Given the description of an element on the screen output the (x, y) to click on. 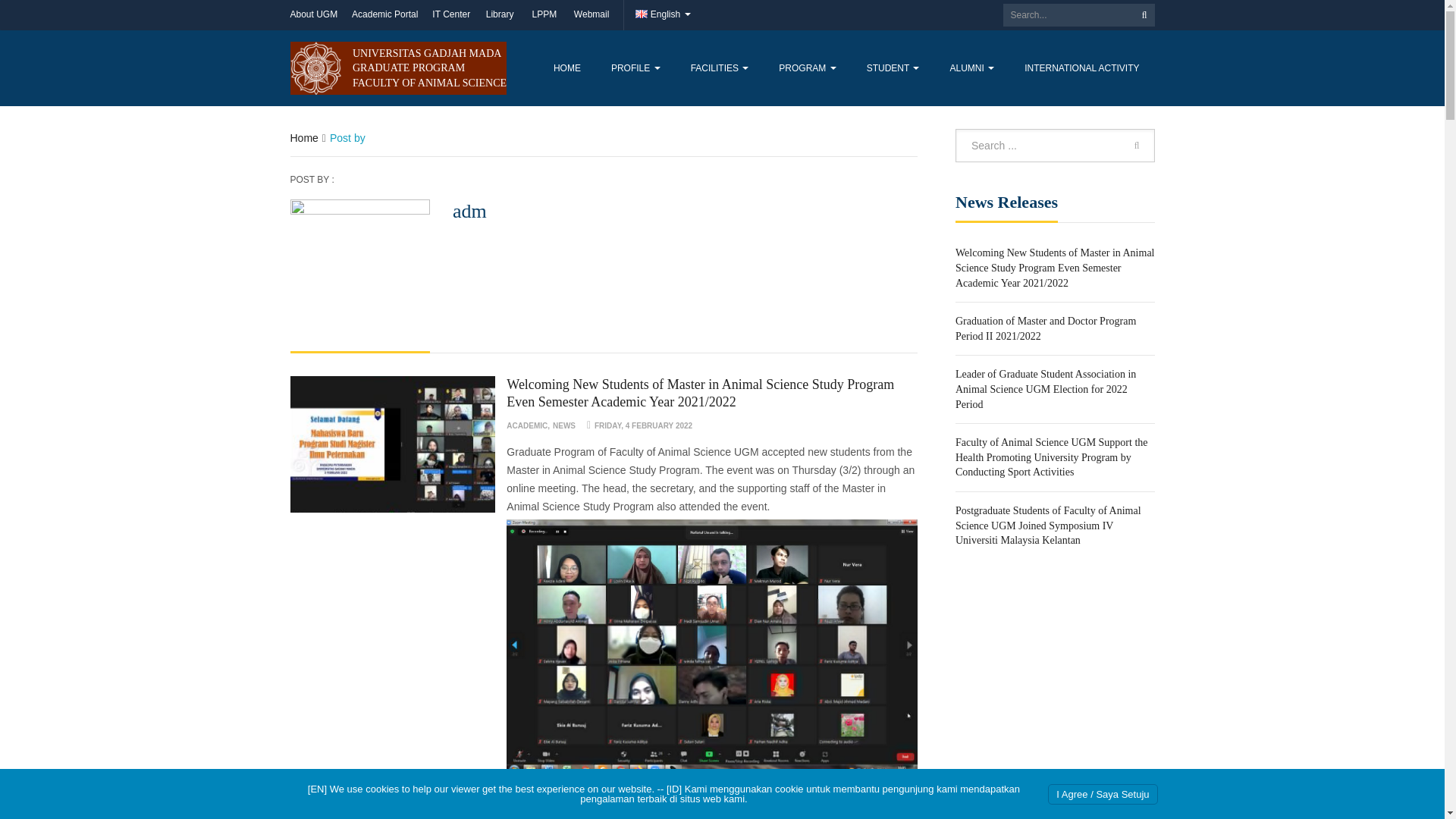
Profile (635, 68)
Facilities (719, 68)
LPPM (544, 15)
Library (499, 15)
Library (499, 15)
IT Center (451, 15)
LPPM (544, 15)
About UGM (313, 15)
FACILITIES (719, 68)
Webmail (590, 15)
